Given the description of an element on the screen output the (x, y) to click on. 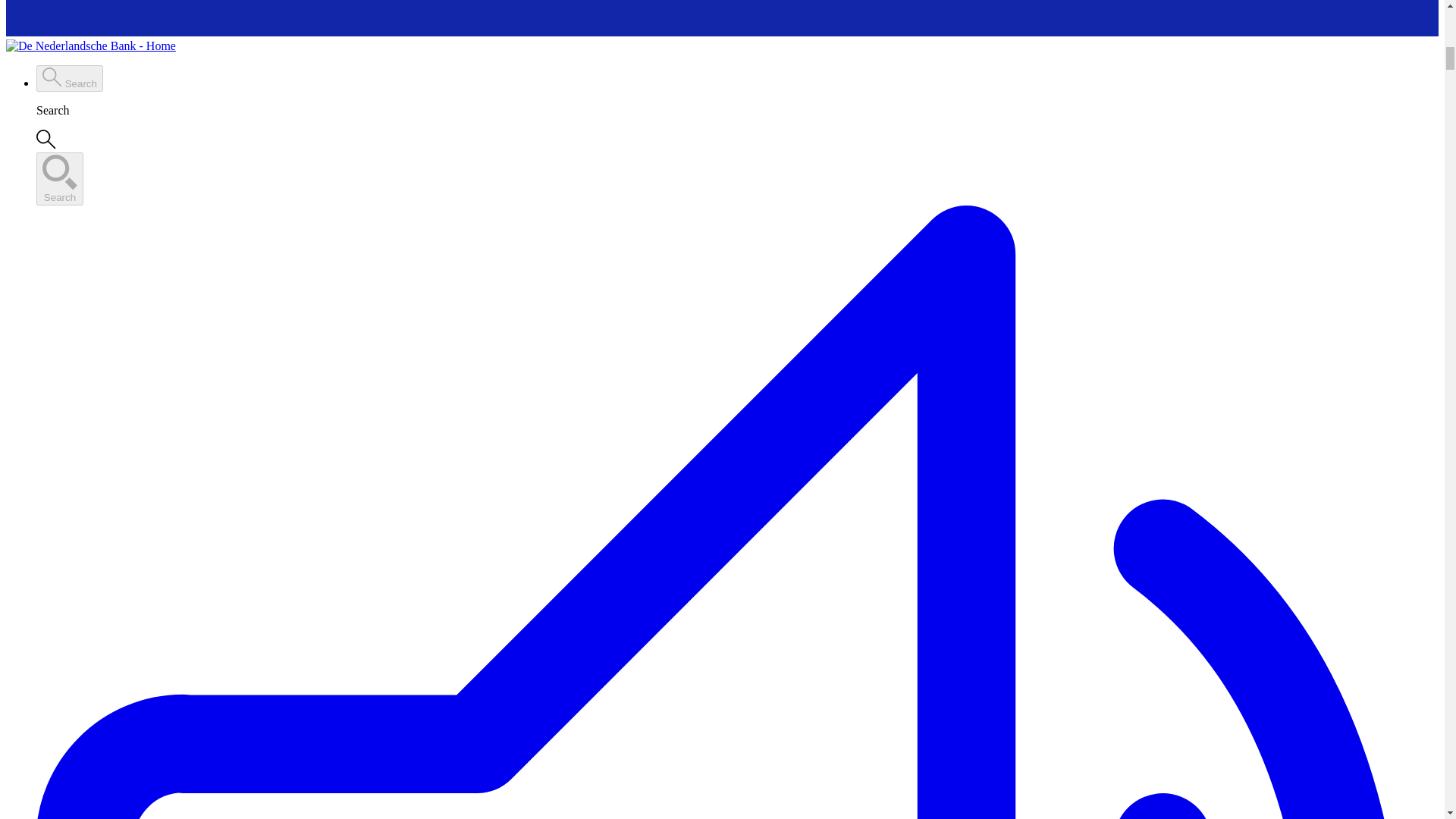
Search (59, 178)
Search (59, 178)
Search (69, 78)
De Nederlandsche Bank - Home (90, 46)
